Given the description of an element on the screen output the (x, y) to click on. 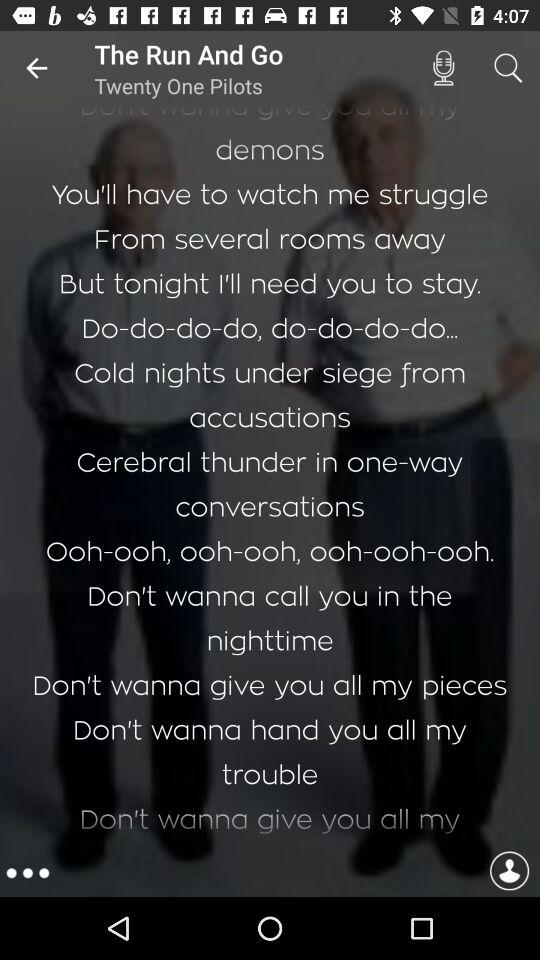
launch the i can t (269, 477)
